Given the description of an element on the screen output the (x, y) to click on. 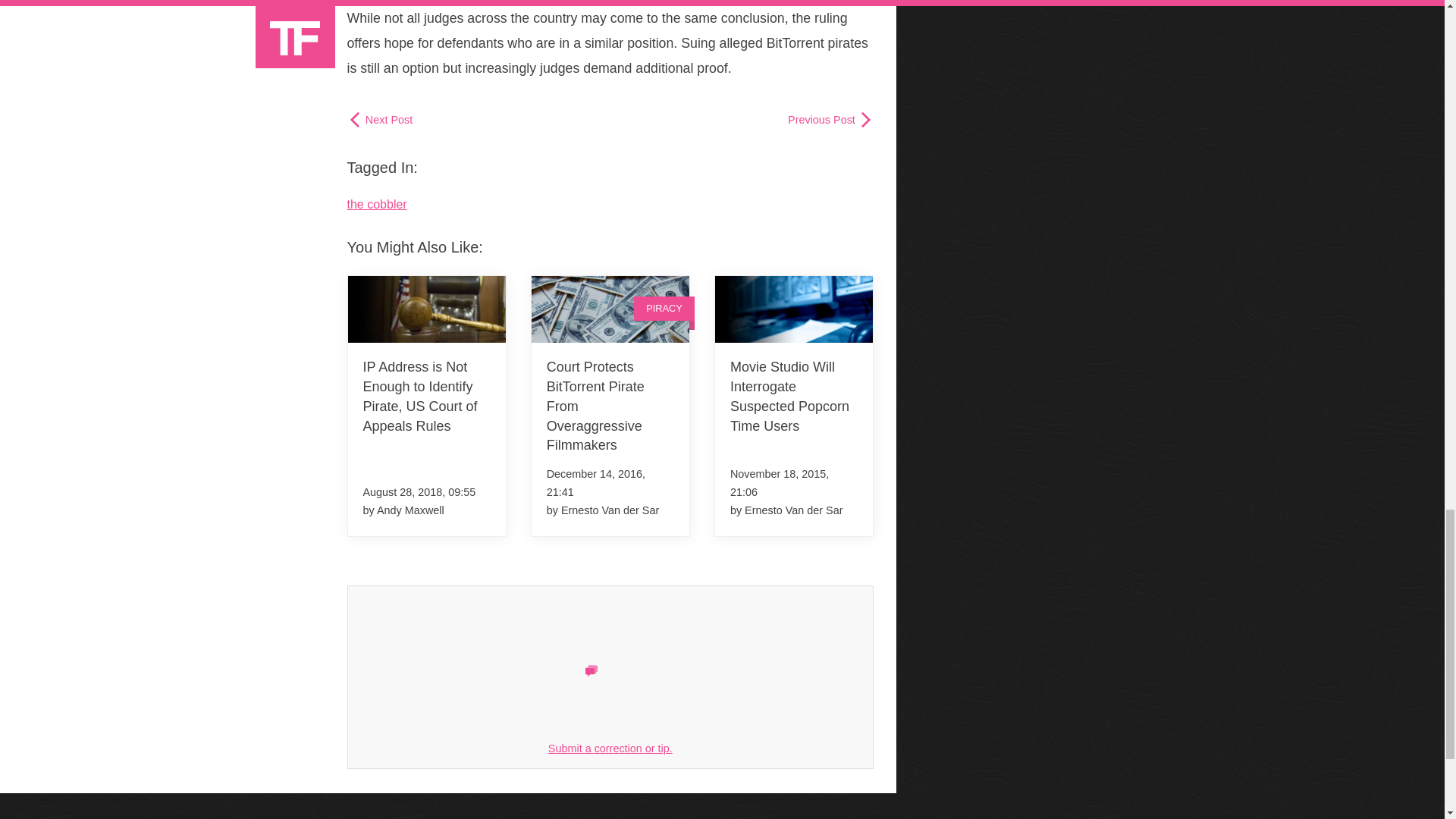
Previous Post (830, 119)
the cobbler (377, 204)
Next Post (380, 119)
Submit a correction or tip. (610, 748)
